Given the description of an element on the screen output the (x, y) to click on. 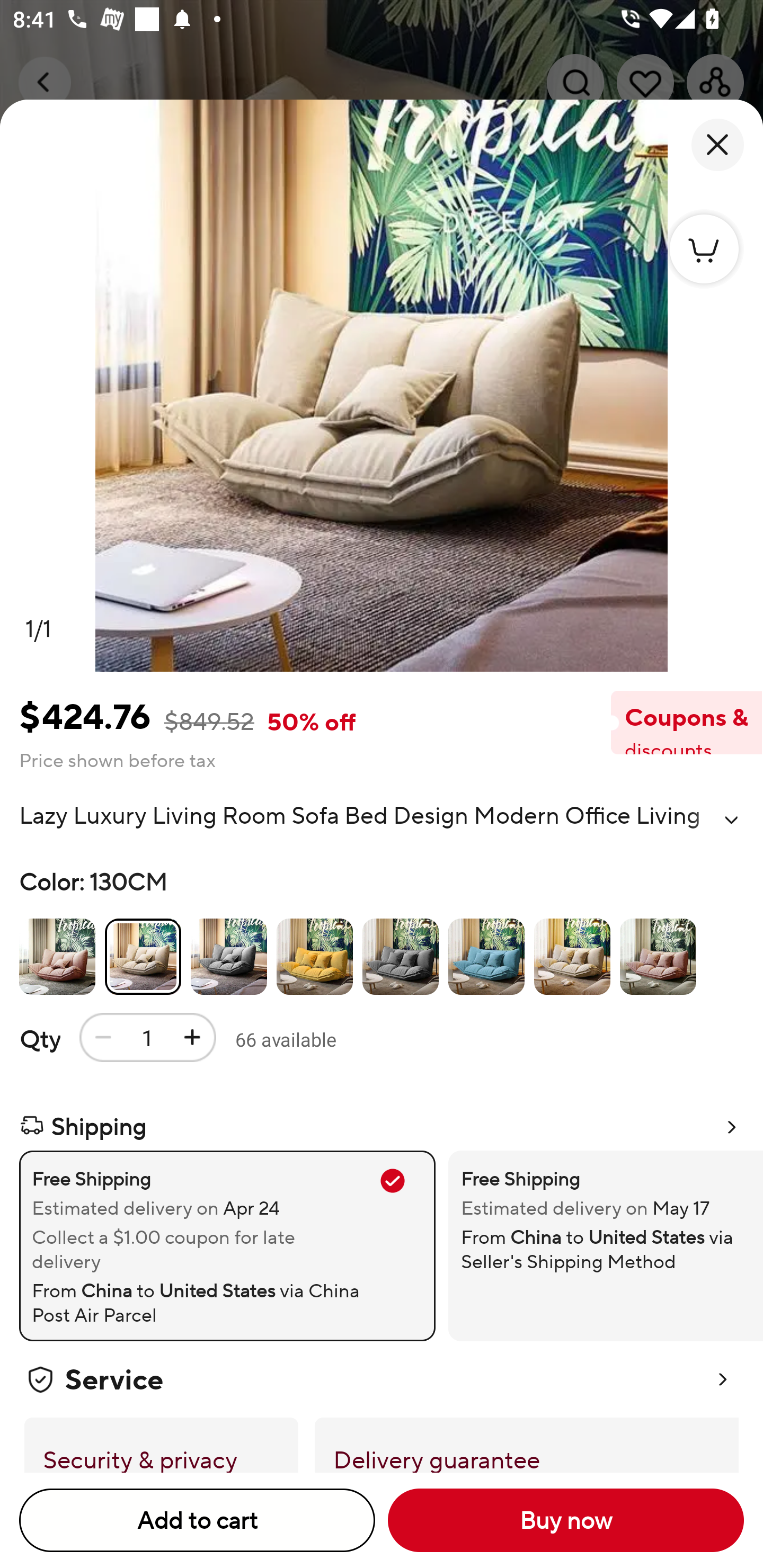
close  (717, 144)
 (730, 819)
Add to cart (197, 1520)
Buy now (565, 1520)
